Given the description of an element on the screen output the (x, y) to click on. 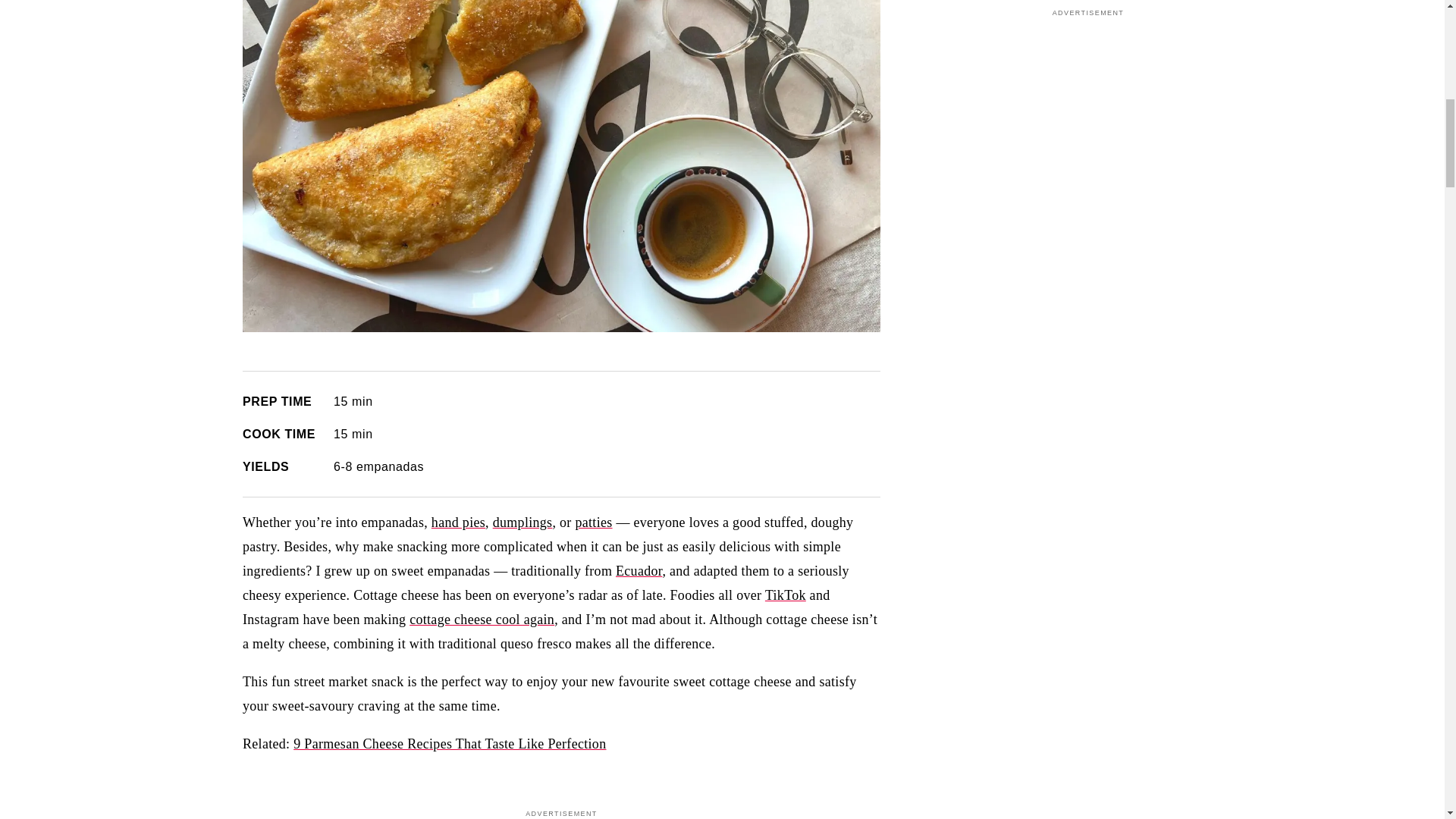
dumplings (523, 522)
Ecuador (638, 570)
TikTok (785, 595)
9 Parmesan Cheese Recipes That Taste Like Perfection (449, 743)
hand pies (457, 522)
cottage cheese cool again (481, 619)
patties (593, 522)
